Given the description of an element on the screen output the (x, y) to click on. 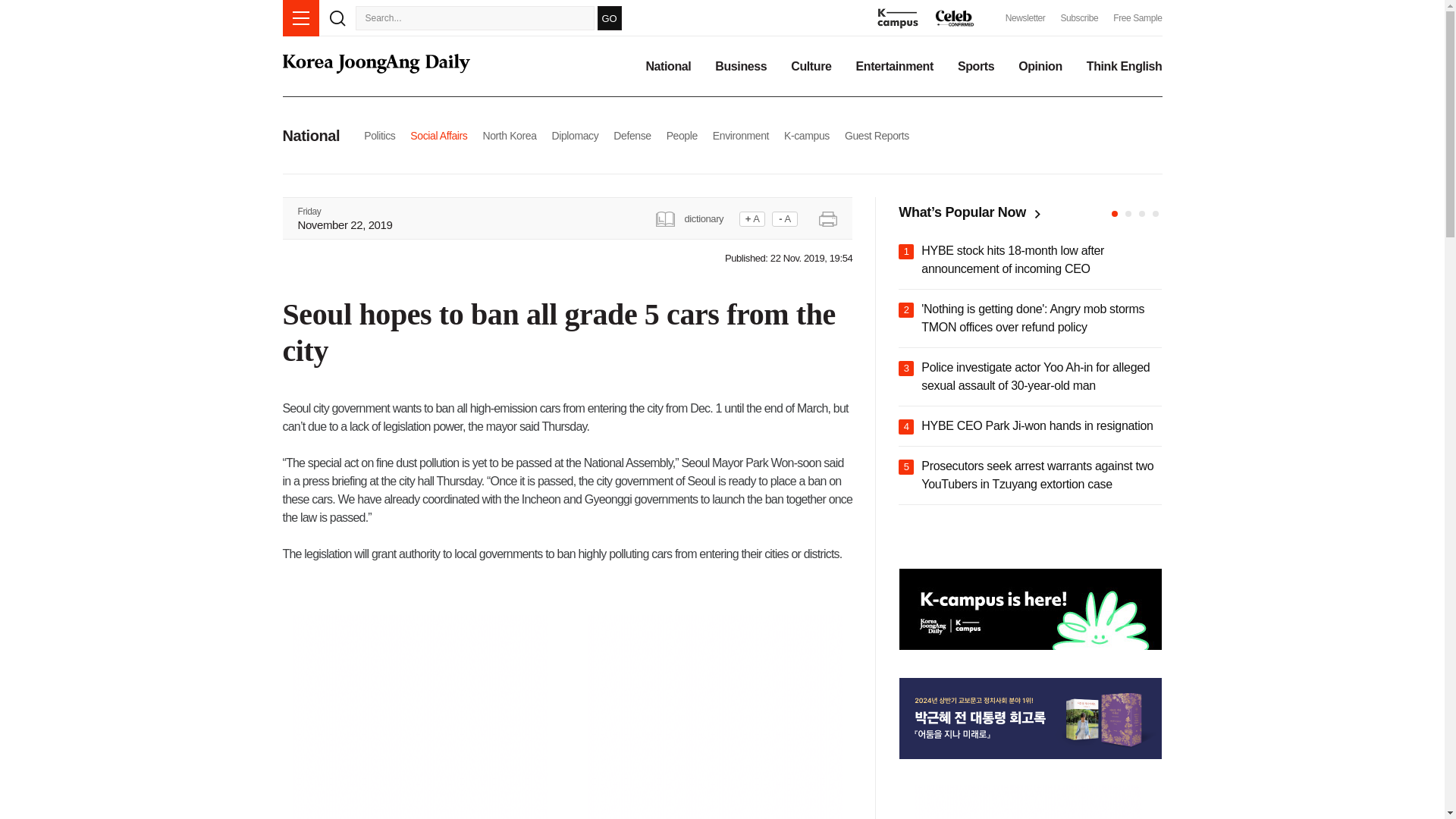
Politics (379, 135)
Defense (631, 135)
Social Affairs (438, 135)
Free Sample (1137, 18)
Guest Reports (876, 135)
Entertainment (894, 66)
K-campus (806, 135)
National (667, 66)
Opinion (1039, 66)
Culture (810, 66)
K-campus (806, 135)
Think English (1123, 66)
Guest Reports (876, 135)
Environment (740, 135)
Subscribe (1078, 18)
